Given the description of an element on the screen output the (x, y) to click on. 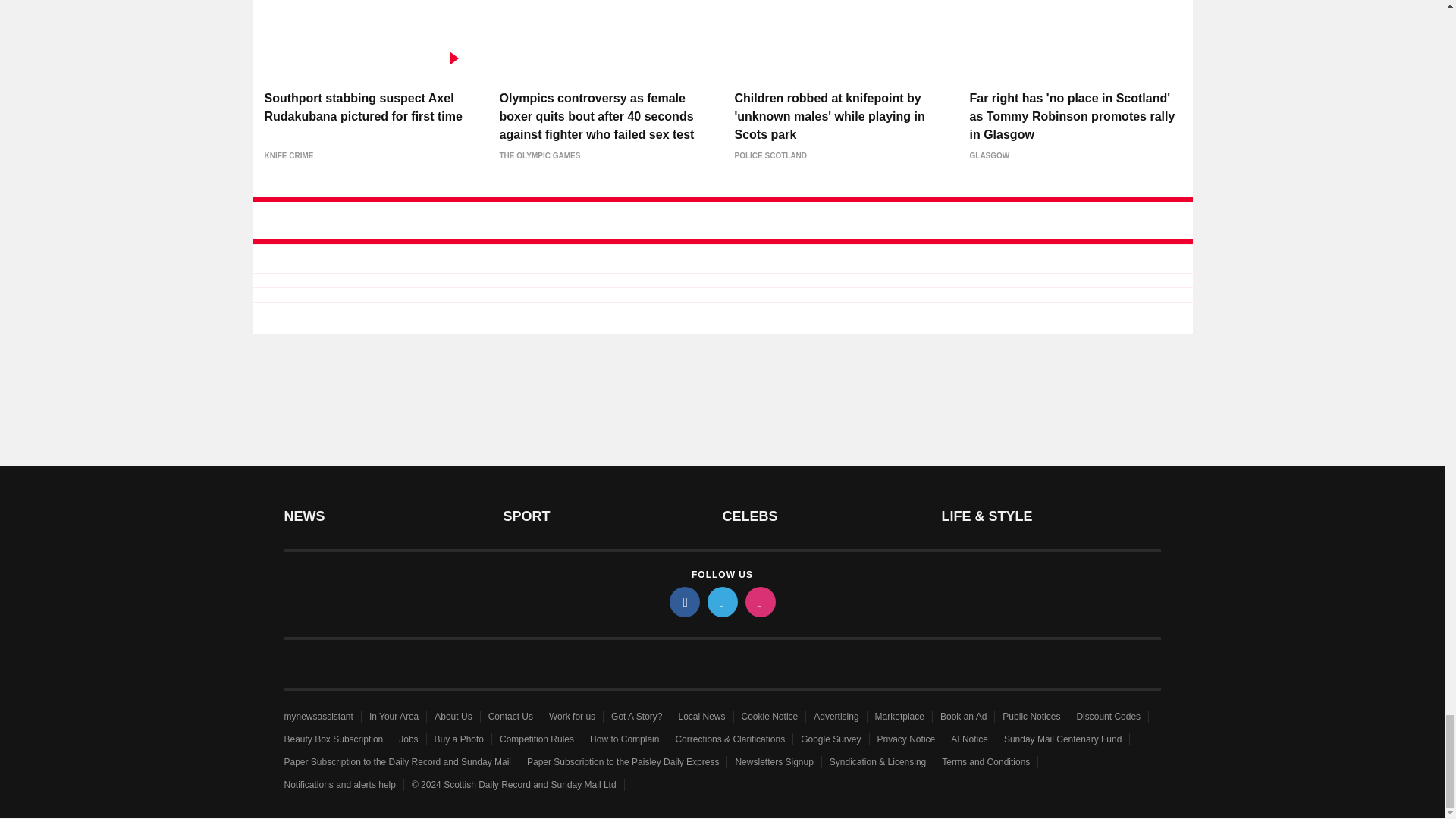
twitter (721, 602)
facebook (683, 602)
instagram (759, 602)
